Given the description of an element on the screen output the (x, y) to click on. 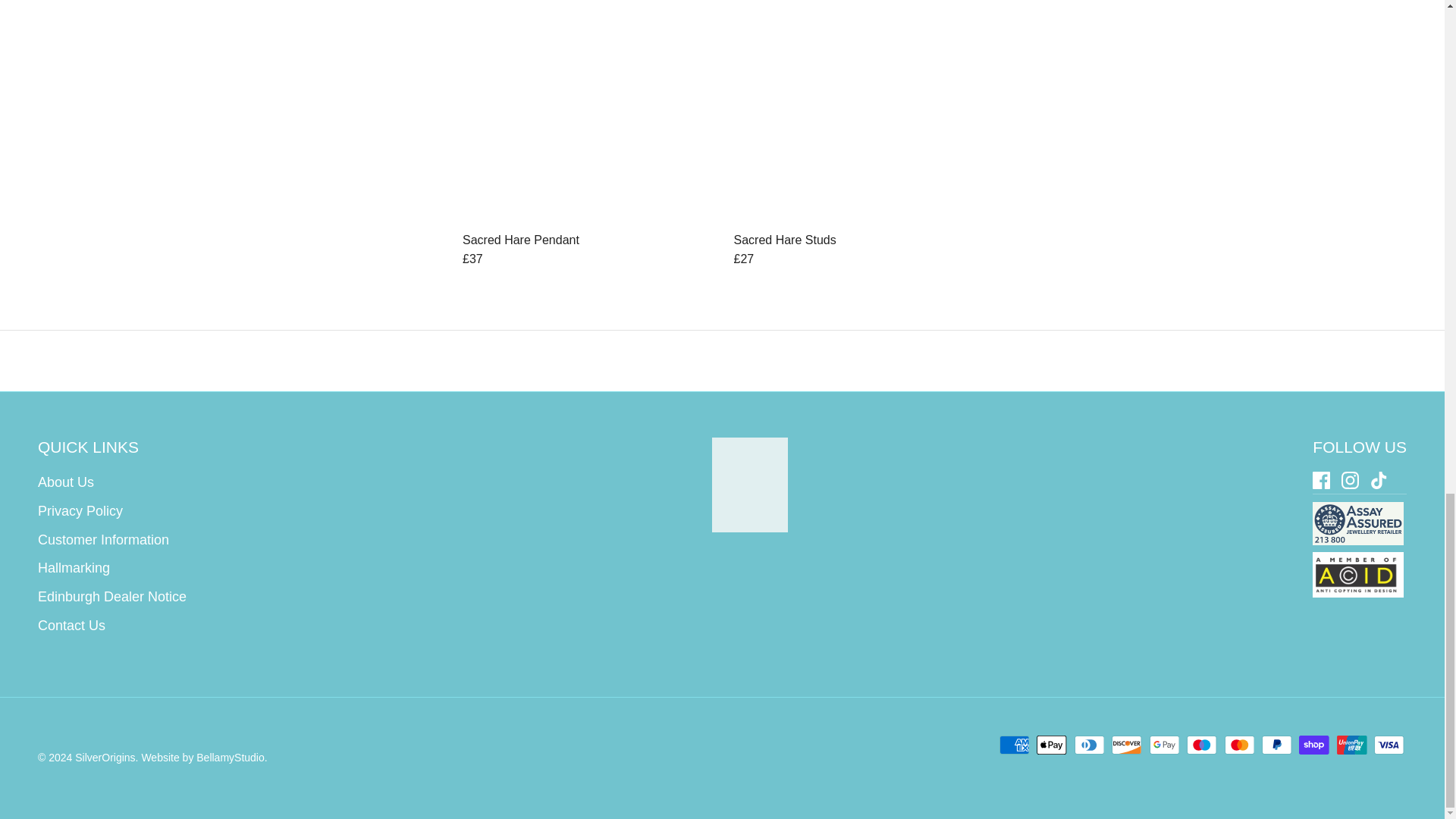
Discover (1126, 744)
Apple Pay (1051, 744)
American Express (1013, 744)
PayPal (1276, 744)
Maestro (1201, 744)
Instagram (1349, 479)
Diners Club (1089, 744)
Mastercard (1239, 744)
Google Pay (1164, 744)
Facebook (1321, 479)
